Given the description of an element on the screen output the (x, y) to click on. 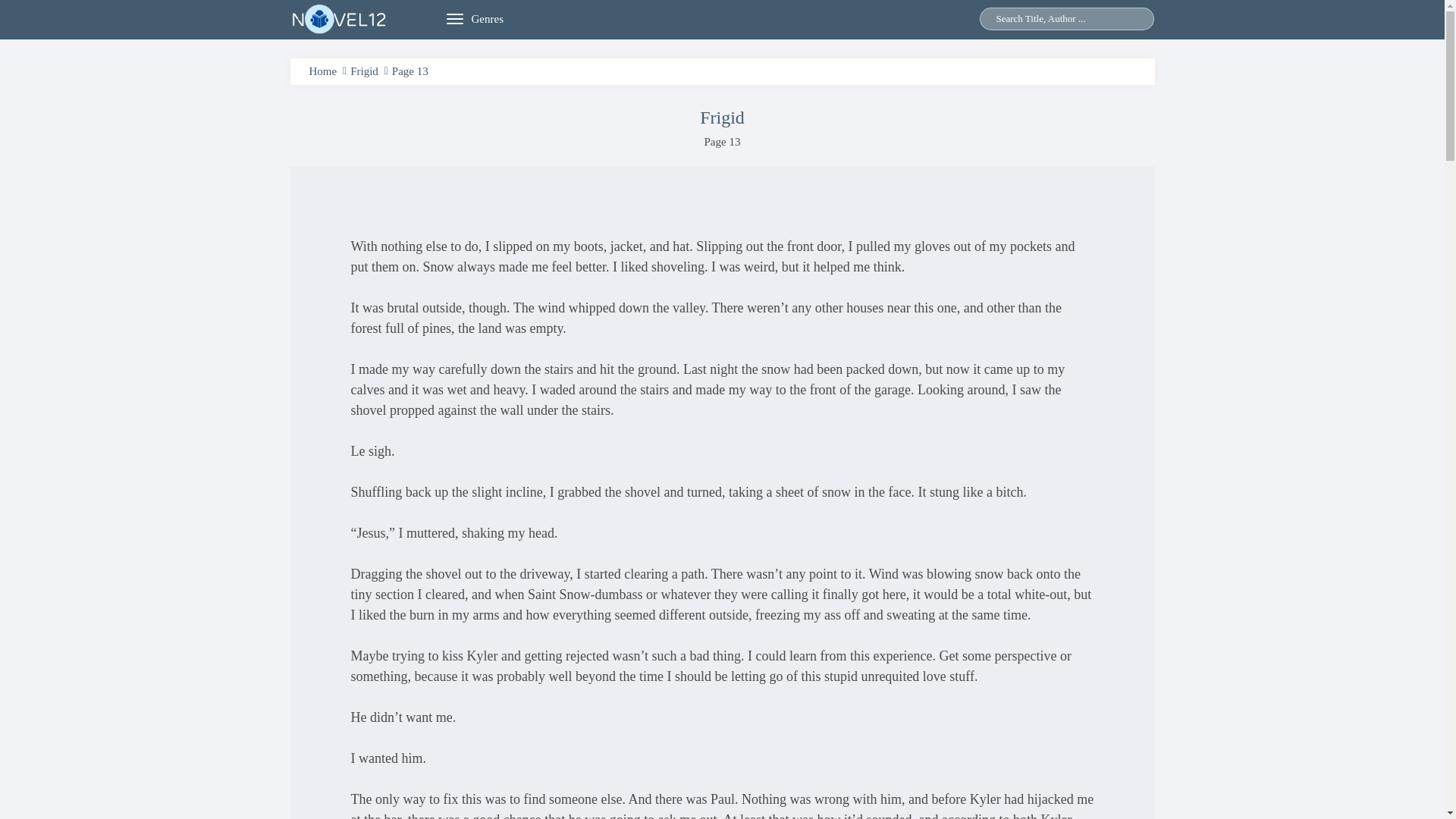
Frigid (721, 117)
Frigid (721, 117)
Home (322, 70)
Home (322, 70)
Frigid (364, 70)
Frigid (364, 70)
